Given the description of an element on the screen output the (x, y) to click on. 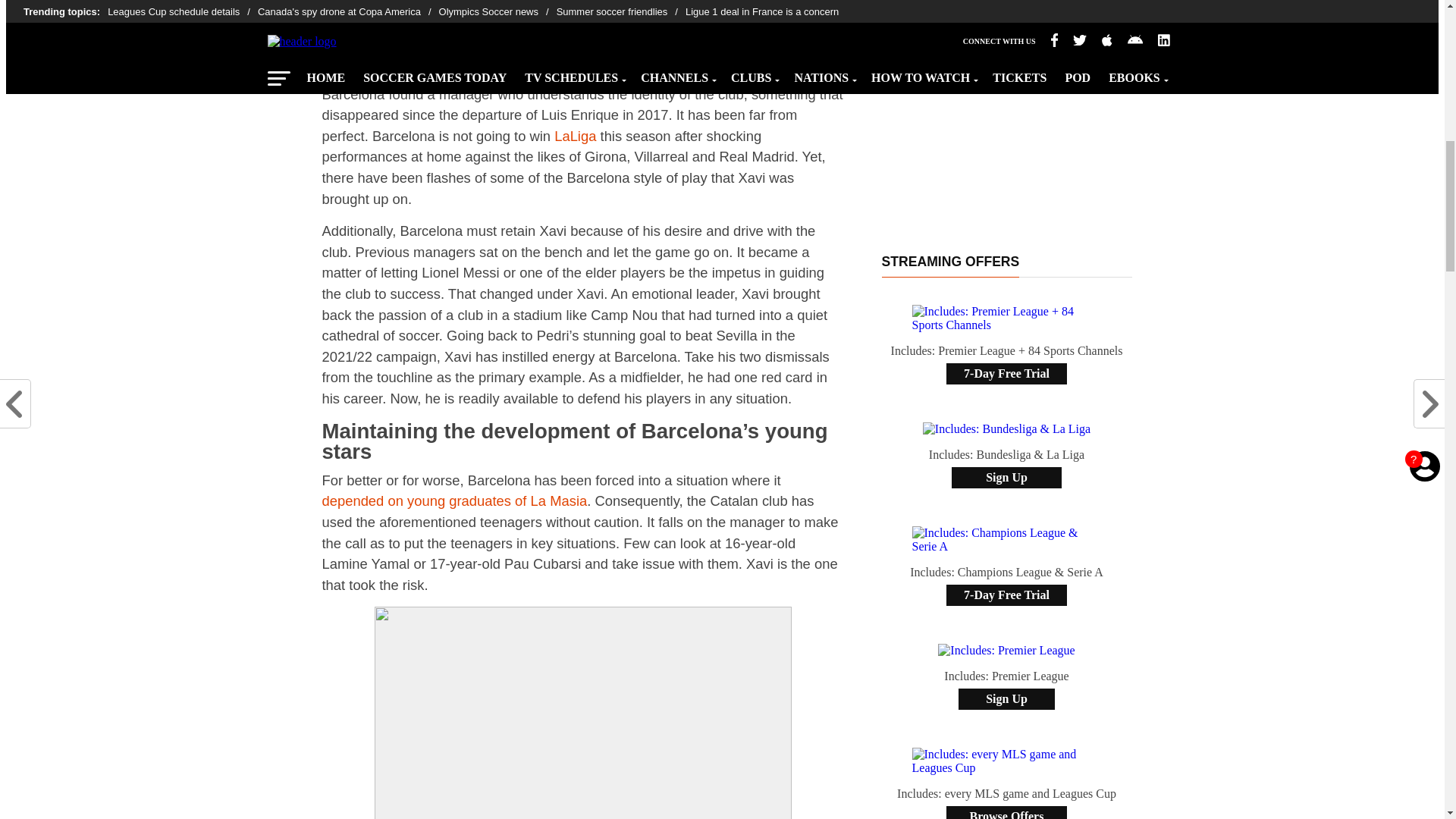
depended on young graduates of La Masia (453, 500)
LaLiga (574, 135)
